Given the description of an element on the screen output the (x, y) to click on. 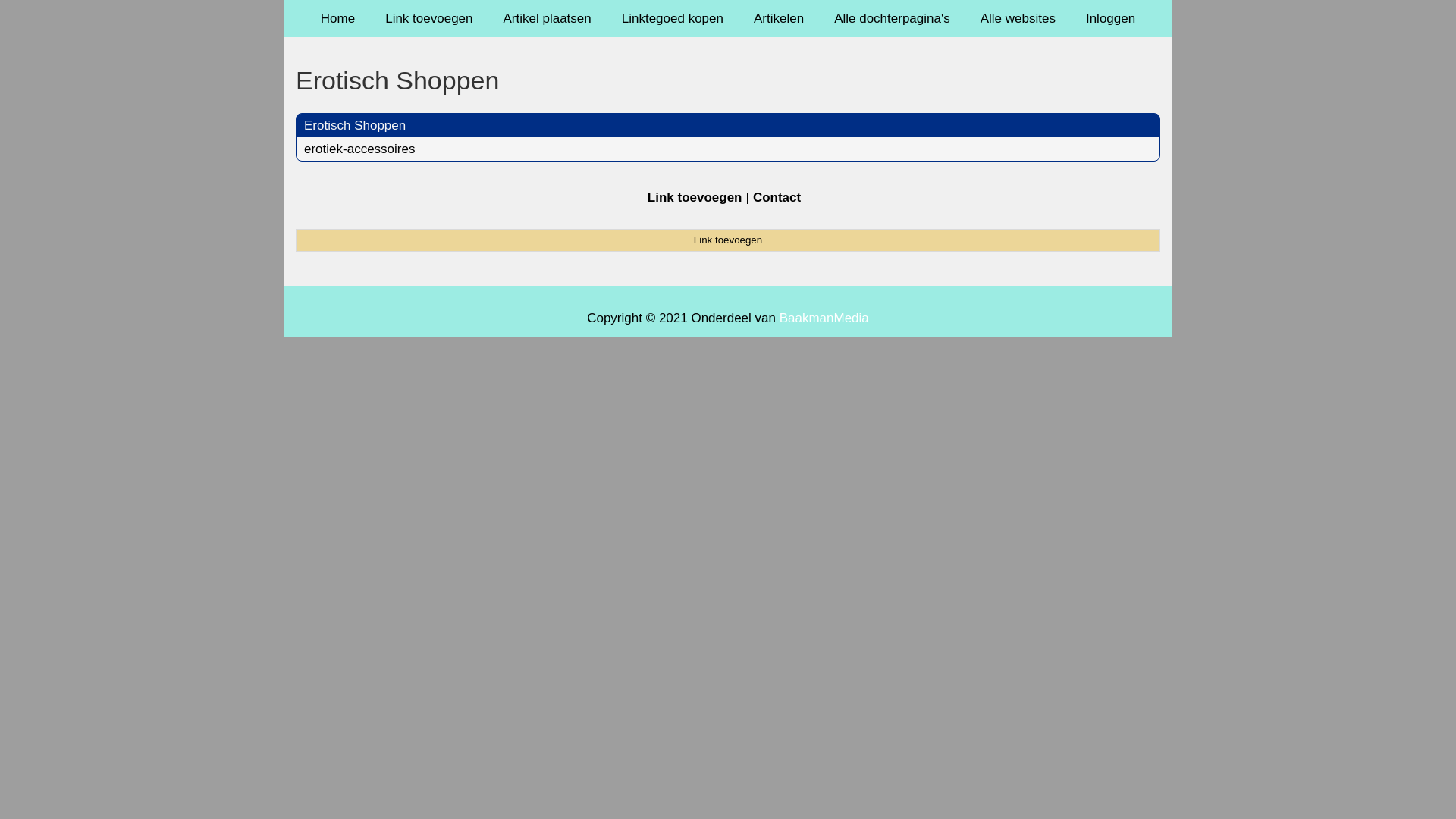
Link toevoegen Element type: text (694, 197)
Erotisch Shoppen Element type: text (354, 125)
Linktegoed kopen Element type: text (672, 18)
erotiek-accessoires Element type: text (359, 148)
Link toevoegen Element type: text (727, 240)
Artikelen Element type: text (778, 18)
BaakmanMedia Element type: text (824, 318)
Artikel plaatsen Element type: text (547, 18)
Alle dochterpagina's Element type: text (892, 18)
Link toevoegen Element type: text (428, 18)
Inloggen Element type: text (1110, 18)
Contact Element type: text (776, 197)
Home Element type: text (337, 18)
Alle websites Element type: text (1017, 18)
Erotisch Shoppen Element type: text (727, 80)
